Given the description of an element on the screen output the (x, y) to click on. 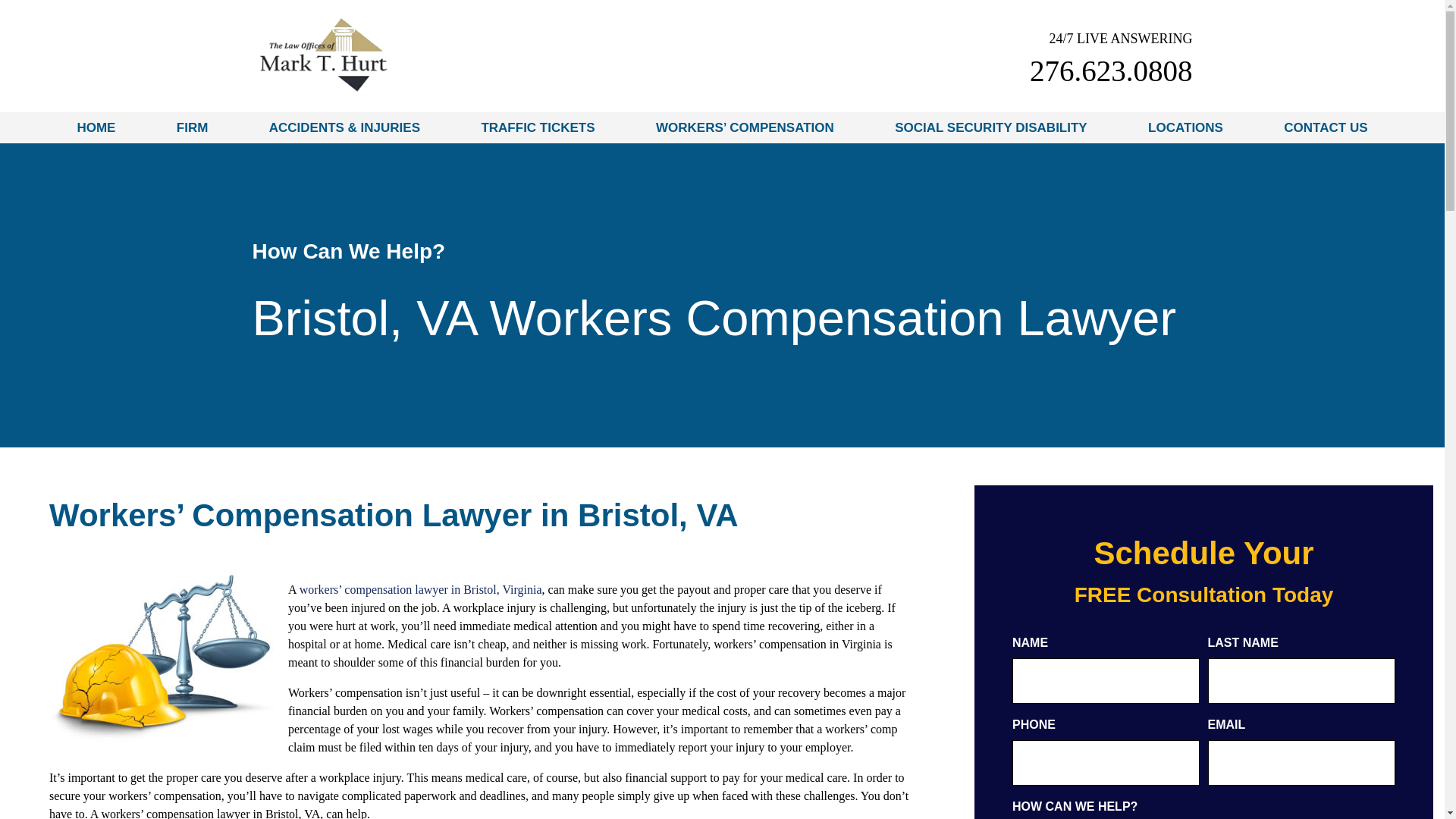
TRAFFIC TICKETS (537, 128)
Home (95, 128)
Firm (191, 128)
SOCIAL SECURITY DISABILITY (990, 128)
FIRM (191, 128)
HOME (95, 128)
LOCATIONS (1185, 128)
276.623.0808 (1110, 70)
